Given the description of an element on the screen output the (x, y) to click on. 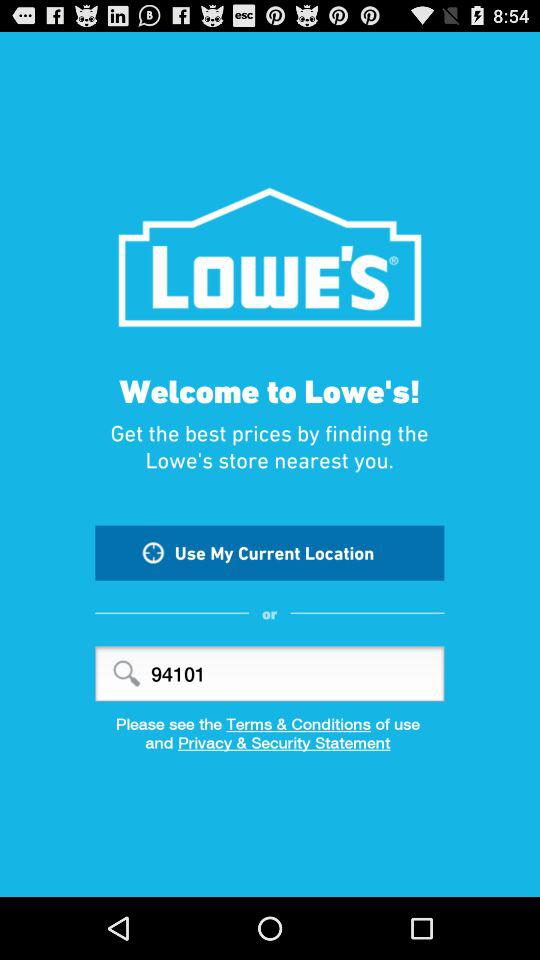
turn off the item below 94101 (270, 723)
